Given the description of an element on the screen output the (x, y) to click on. 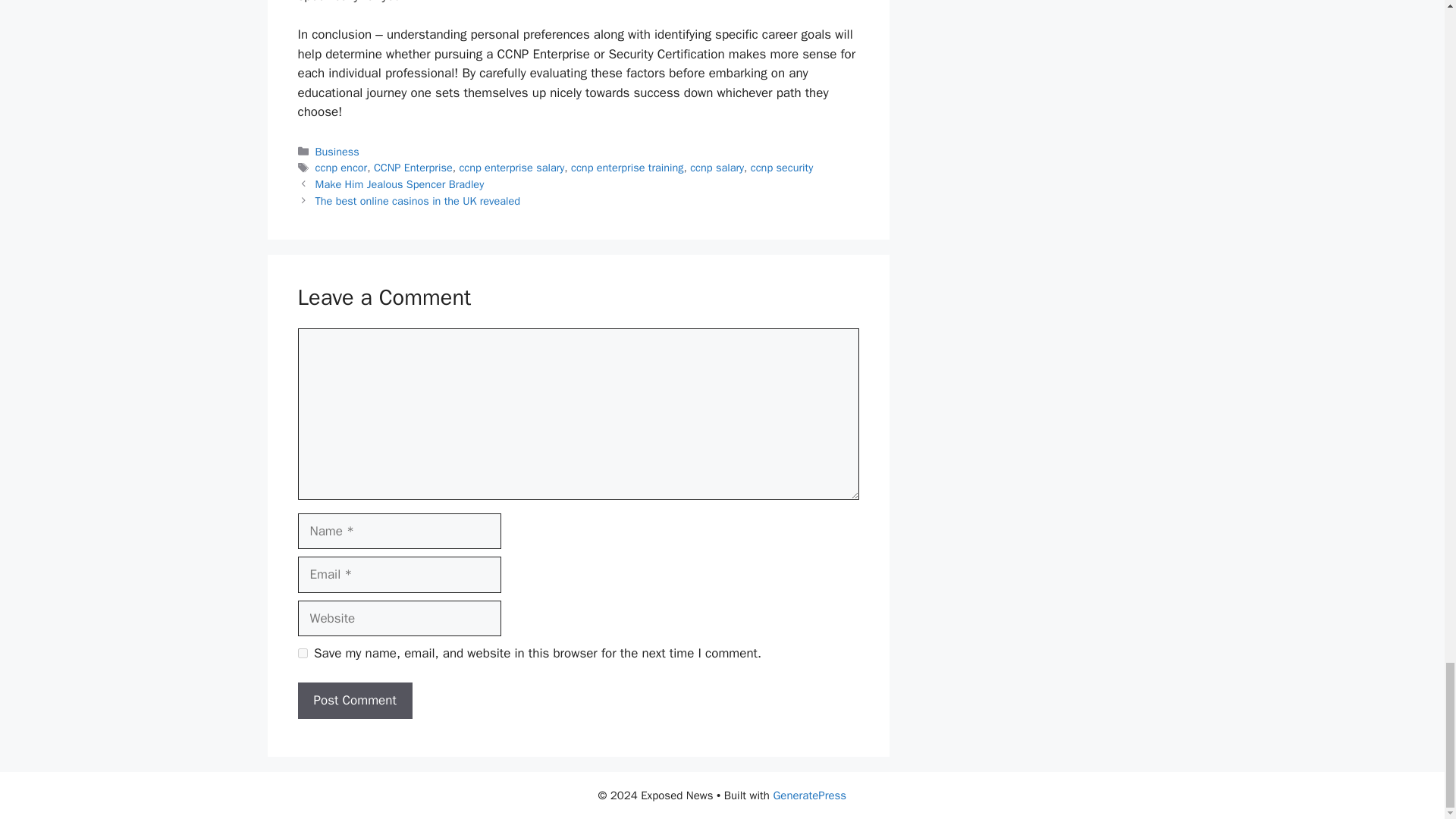
Post Comment (354, 700)
ccnp encor (341, 167)
The best online casinos in the UK revealed (417, 201)
ccnp security (781, 167)
yes (302, 653)
CCNP Enterprise (413, 167)
ccnp salary (717, 167)
Business (337, 151)
Make Him Jealous Spencer Bradley (399, 183)
ccnp enterprise training (626, 167)
ccnp enterprise salary (511, 167)
